Given the description of an element on the screen output the (x, y) to click on. 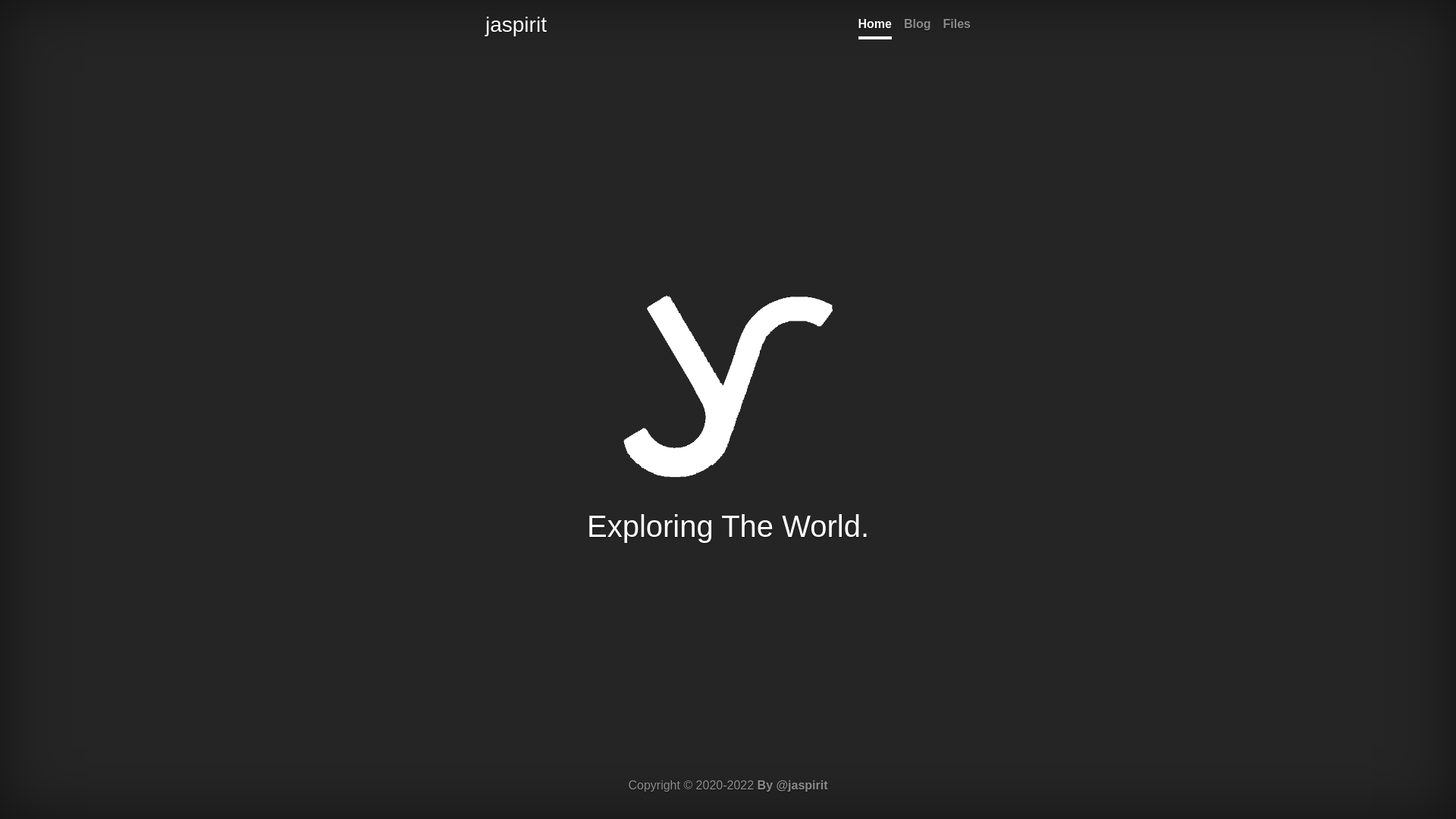
Home Element type: text (874, 25)
Files Element type: text (956, 25)
Blog Element type: text (917, 25)
